Given the description of an element on the screen output the (x, y) to click on. 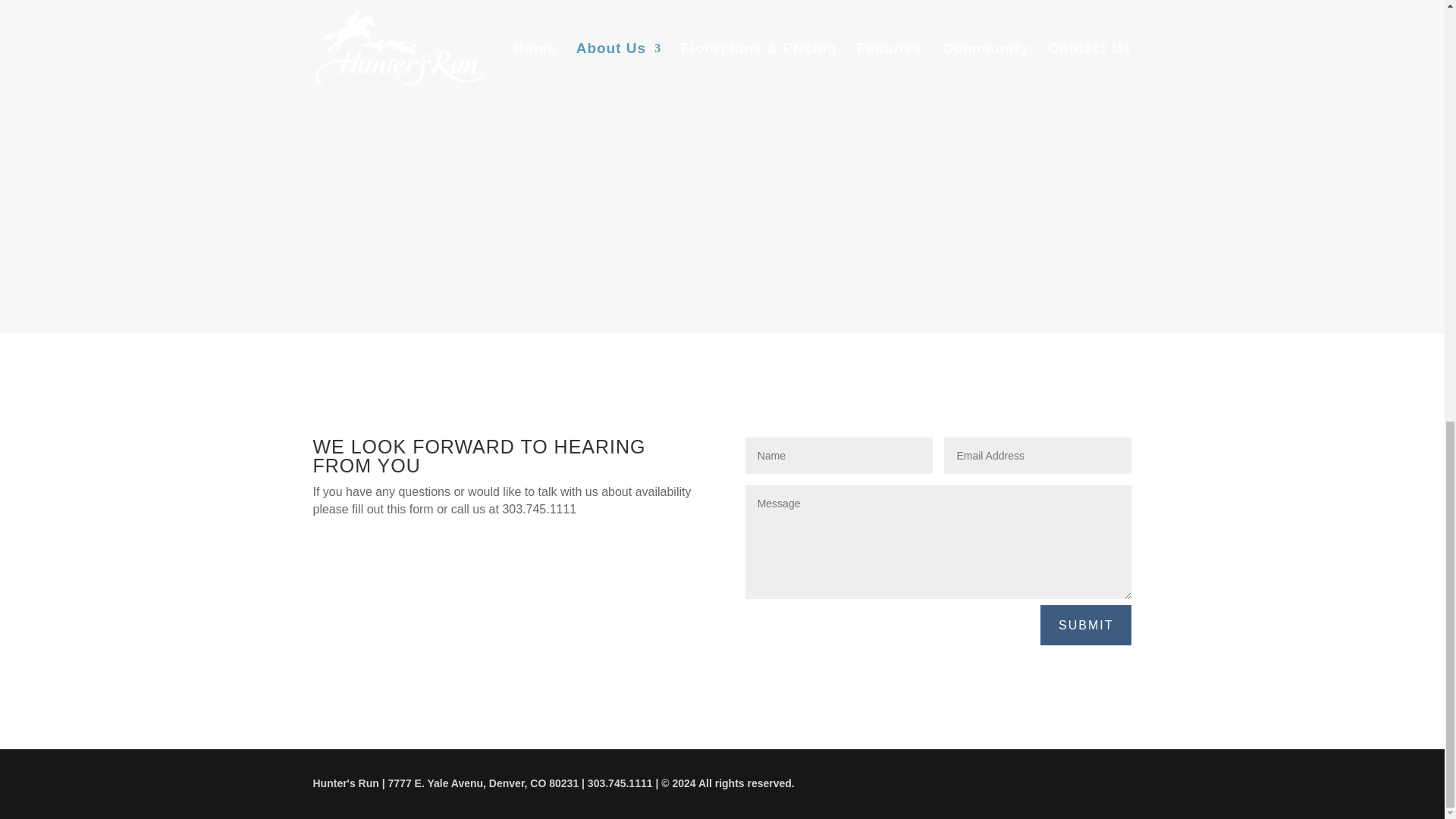
SUBMIT (1086, 625)
